Given the description of an element on the screen output the (x, y) to click on. 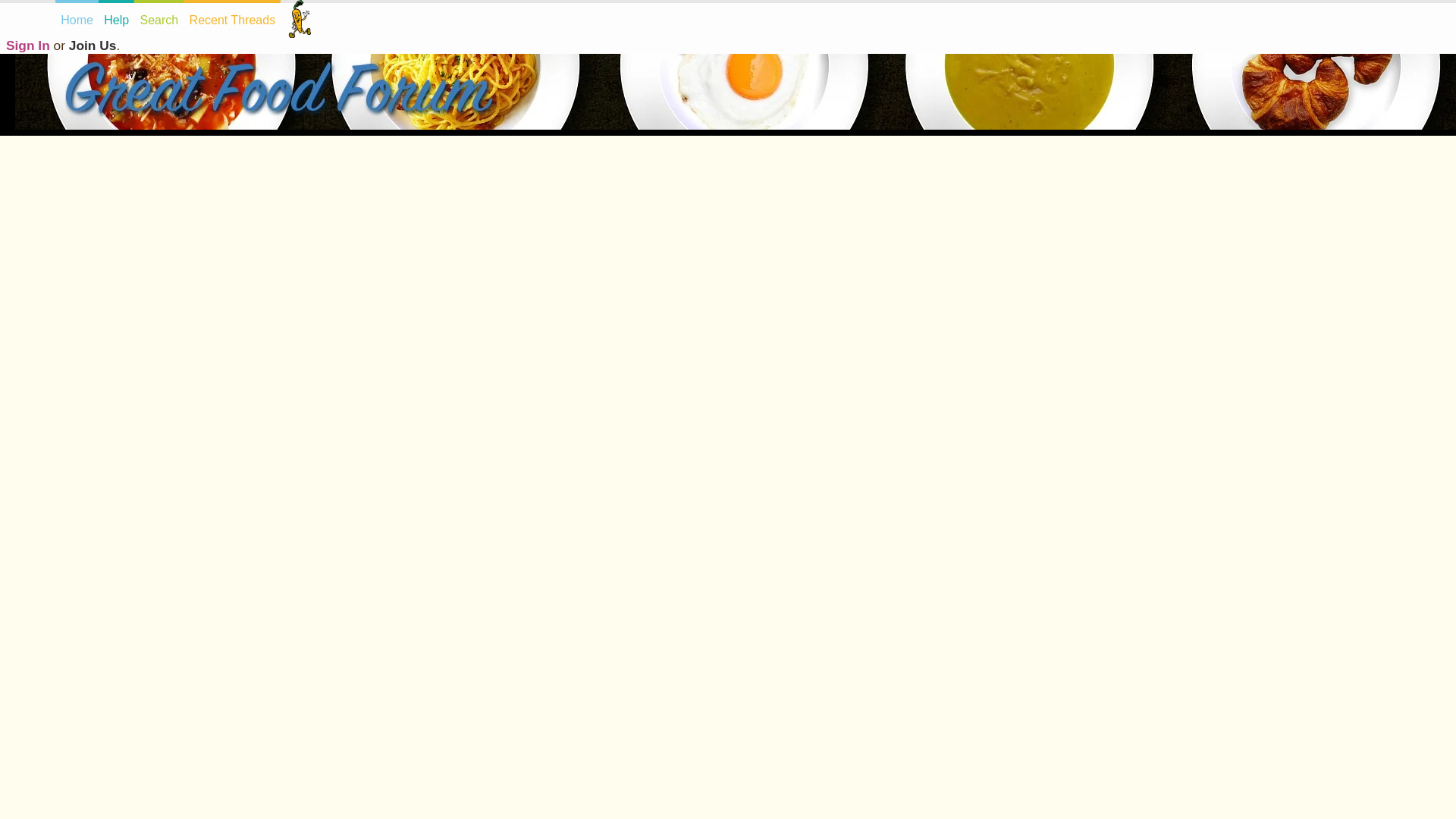
Sign In (27, 45)
Home (77, 18)
Help (116, 18)
Guest (299, 18)
Recent Threads (232, 18)
Search (158, 18)
Join Us (92, 45)
